Given the description of an element on the screen output the (x, y) to click on. 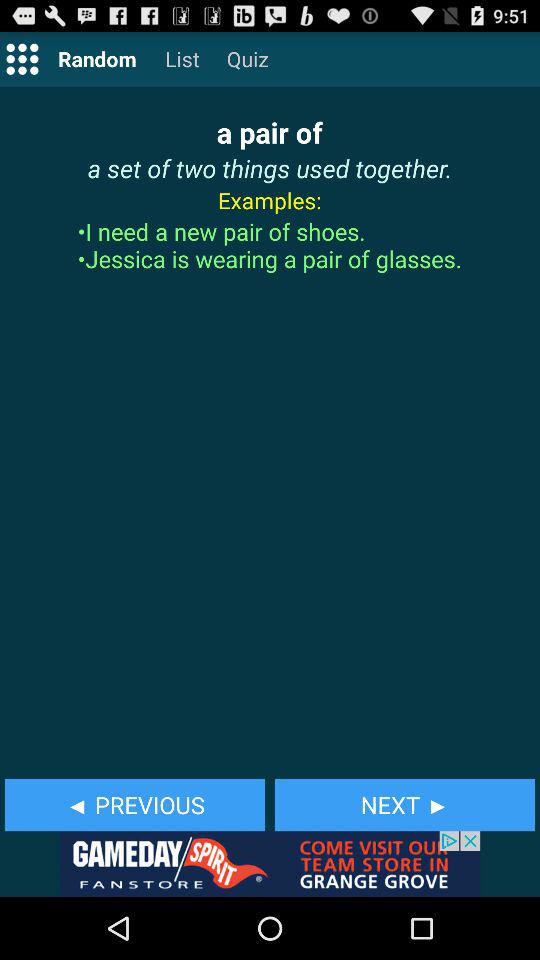
find out more (270, 864)
